Given the description of an element on the screen output the (x, y) to click on. 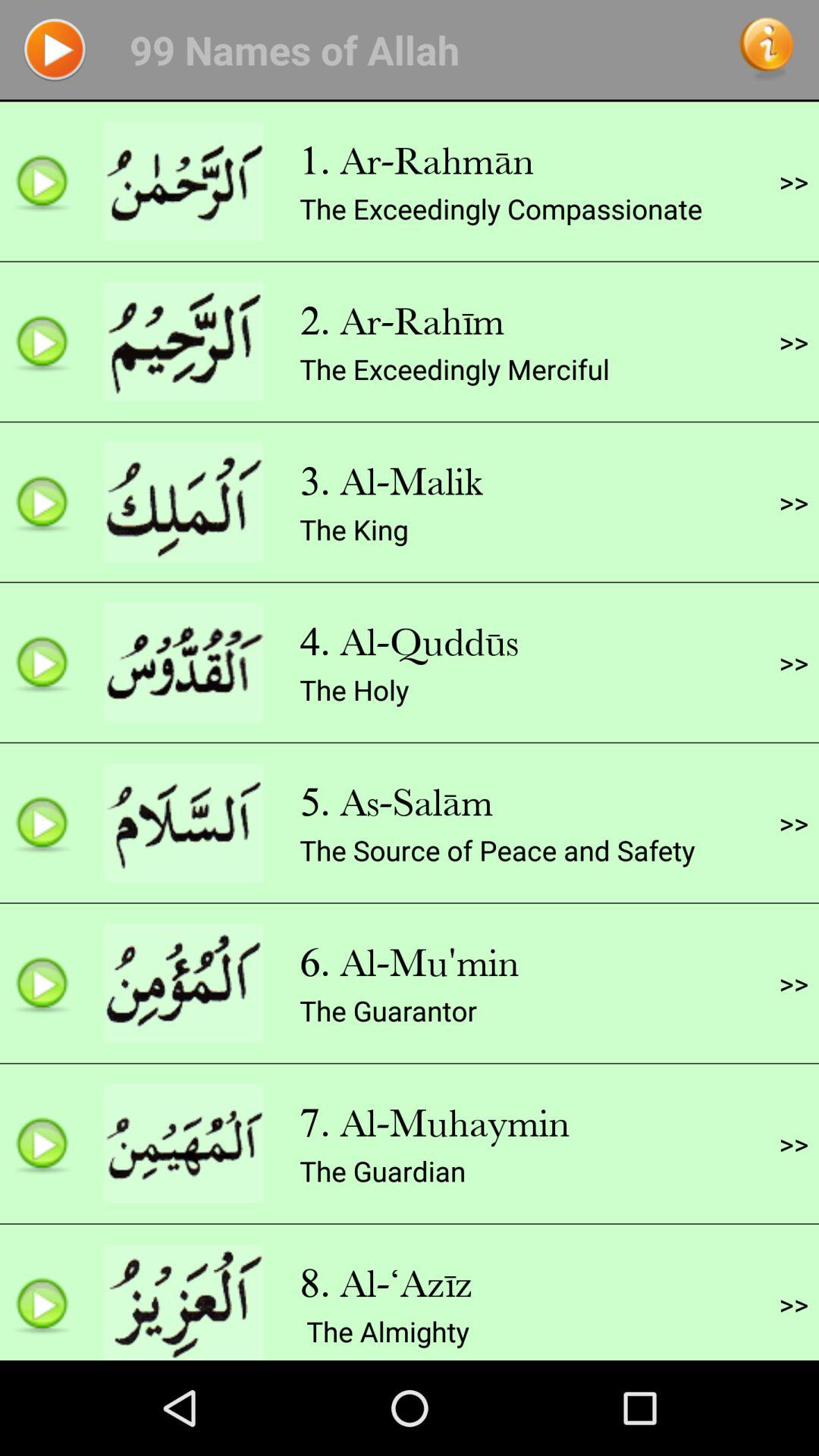
press the app to the left of the >> (388, 1010)
